Given the description of an element on the screen output the (x, y) to click on. 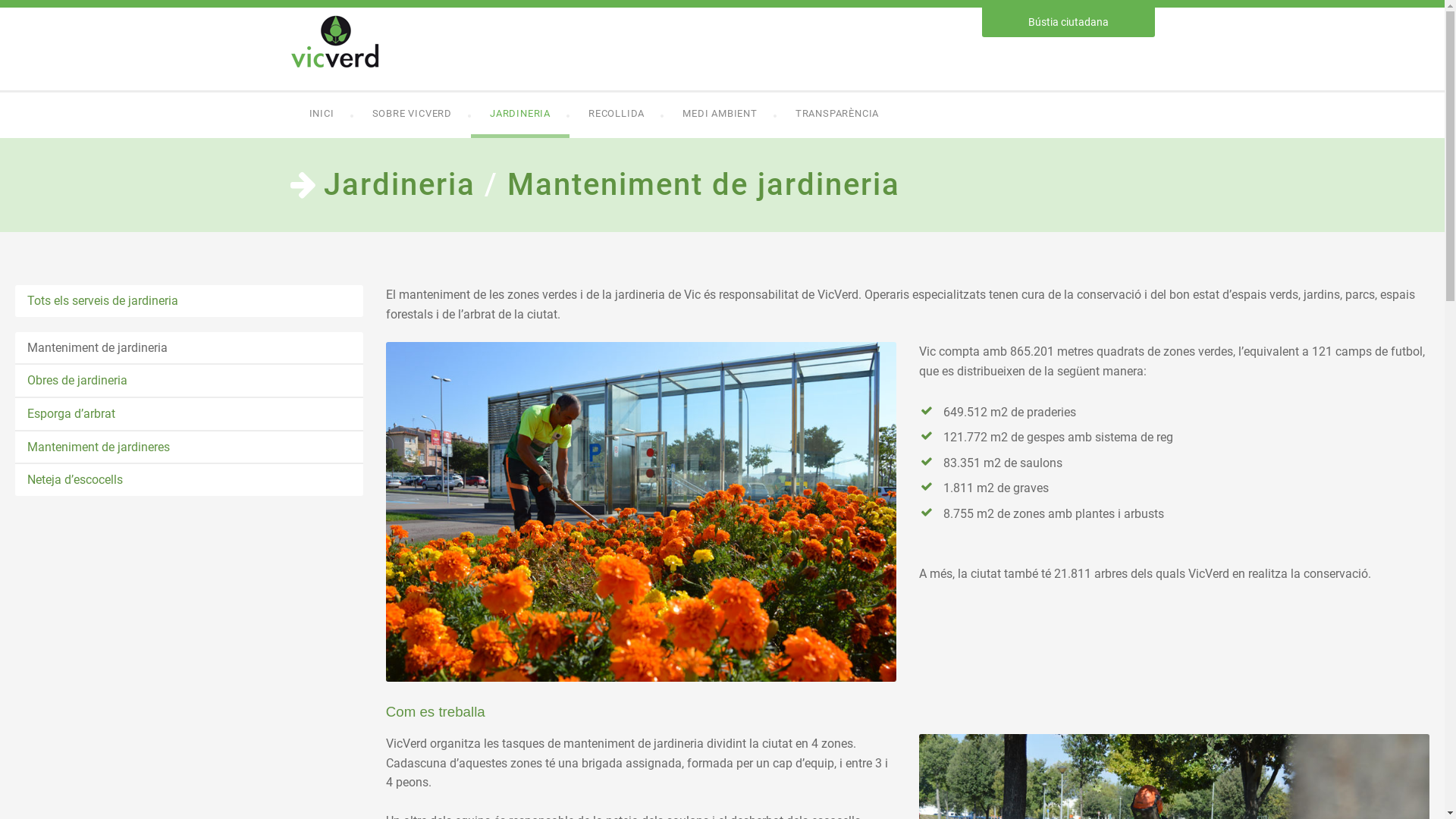
Tots els serveis de jardineria Element type: text (189, 300)
JARDINERIA Element type: text (519, 115)
INICI Element type: text (320, 115)
MEDI AMBIENT Element type: text (719, 115)
SOBRE VICVERD Element type: text (411, 115)
Obres de jardineria Element type: text (189, 380)
RECOLLIDA Element type: text (616, 115)
Manteniment de jardineres Element type: text (189, 447)
